Given the description of an element on the screen output the (x, y) to click on. 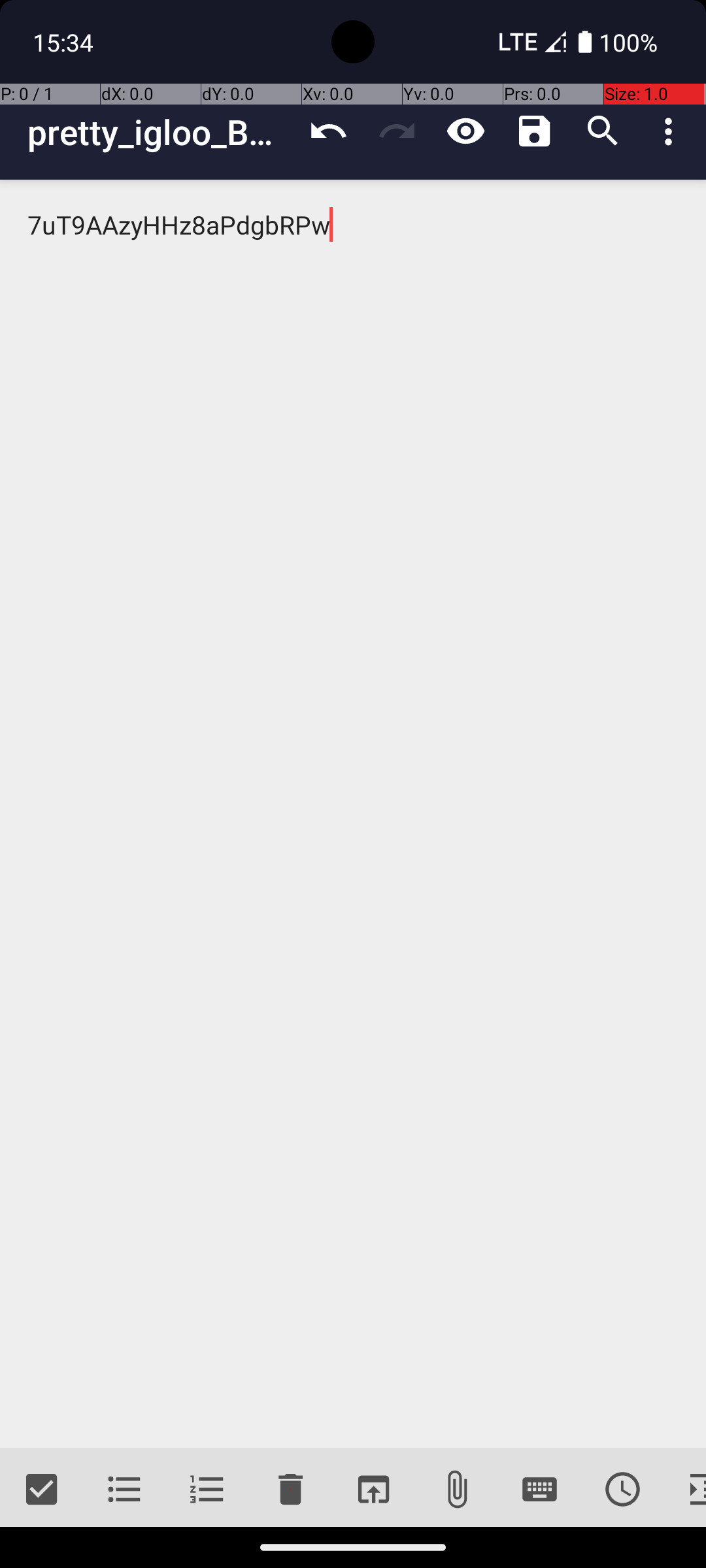
pretty_igloo_BP7P Element type: android.widget.TextView (160, 131)
7uT9AAzyHHz8aPdgbRPw Element type: android.widget.EditText (353, 813)
